Given the description of an element on the screen output the (x, y) to click on. 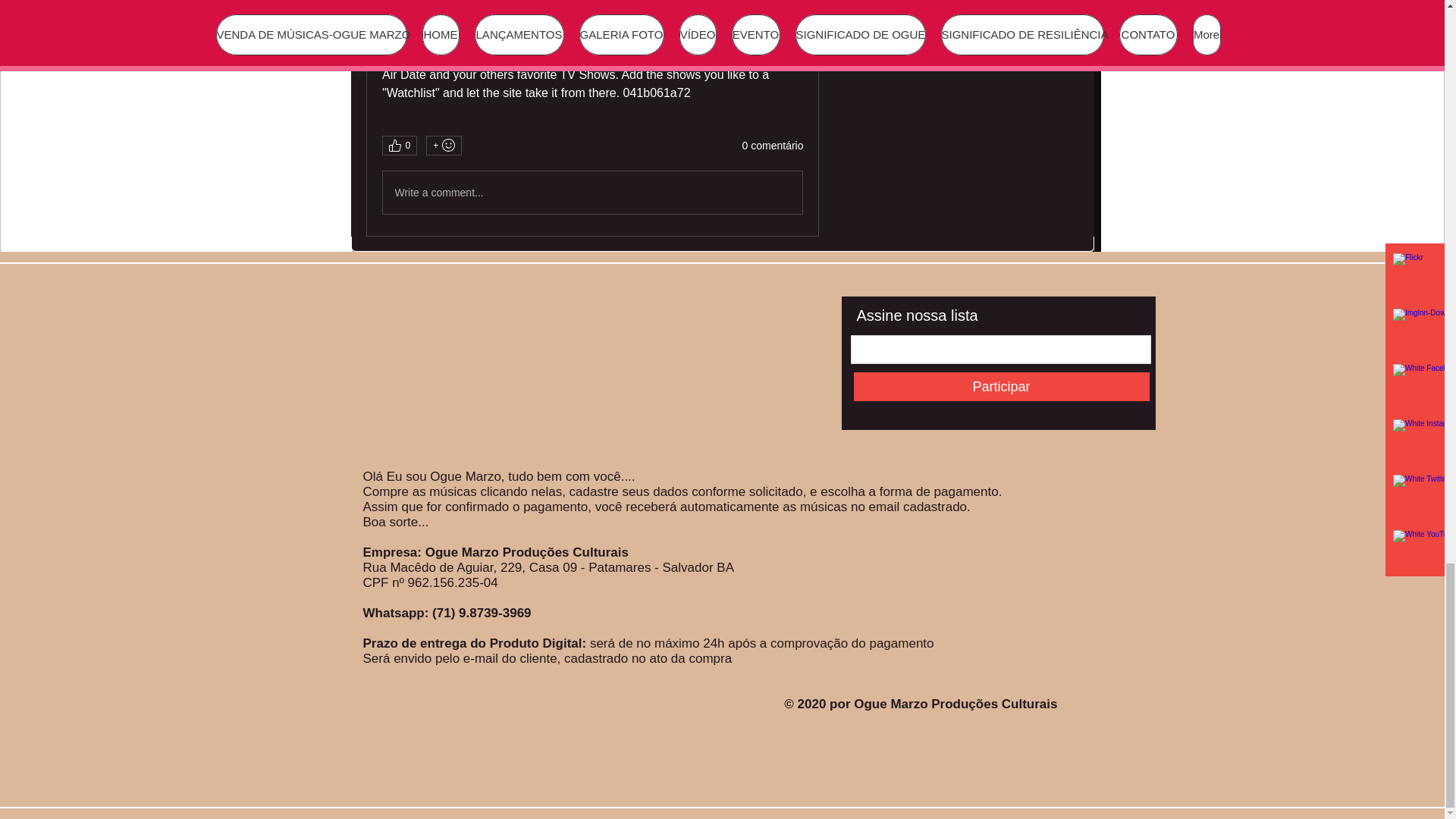
Write a comment... (591, 192)
